Given the description of an element on the screen output the (x, y) to click on. 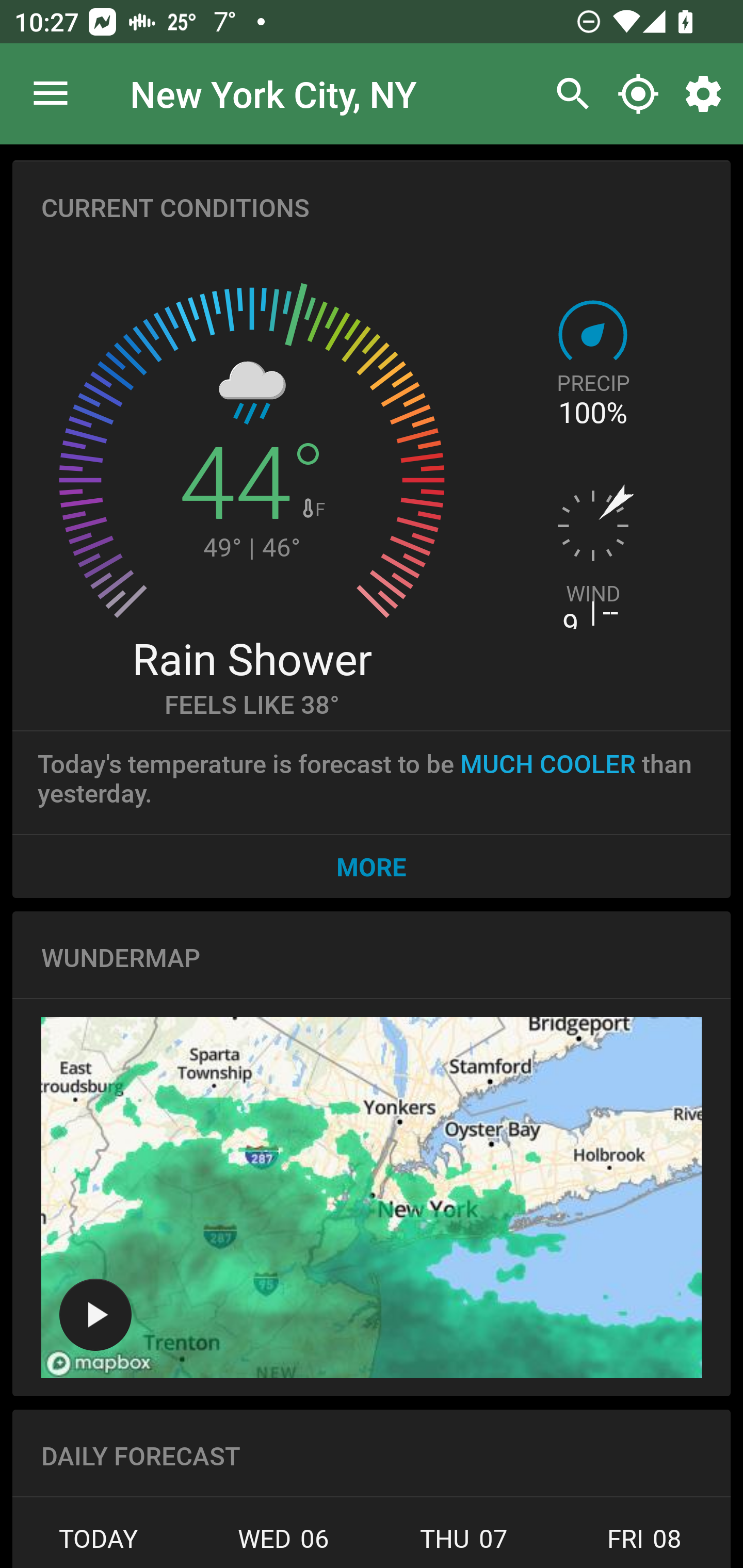
Press to open location manager. (50, 93)
Search for location (567, 94)
Select GPS location (637, 94)
Settings (706, 94)
New York City, NY (273, 92)
100% (592, 412)
Rain Shower (251, 657)
MORE (371, 865)
Weather Map (371, 1197)
Weather Map (95, 1314)
TODAY (102, 1544)
WED 06 (283, 1544)
THU 07 (463, 1544)
FRI 08 (642, 1544)
